Given the description of an element on the screen output the (x, y) to click on. 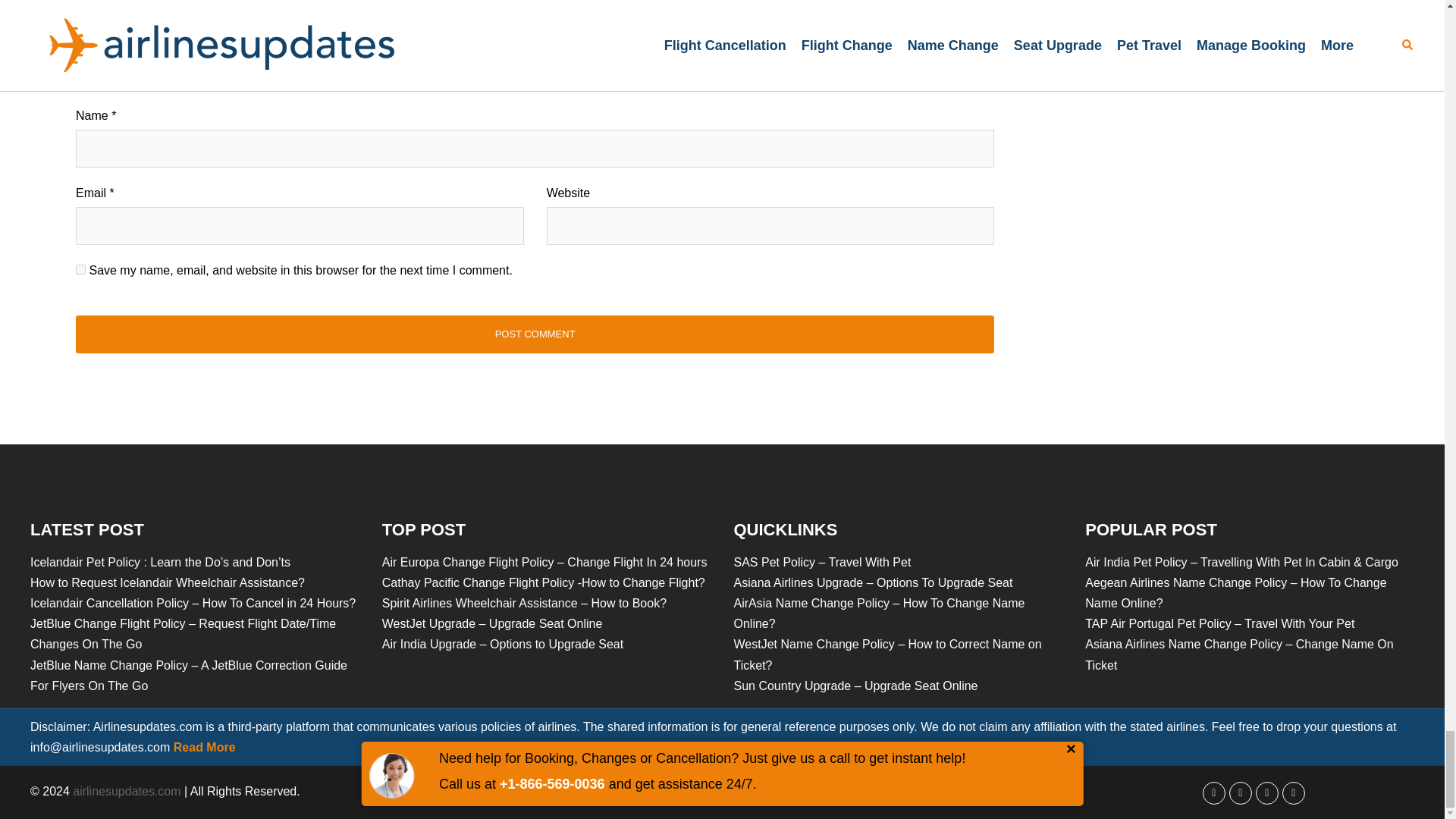
Post Comment (534, 333)
yes (80, 269)
